Given the description of an element on the screen output the (x, y) to click on. 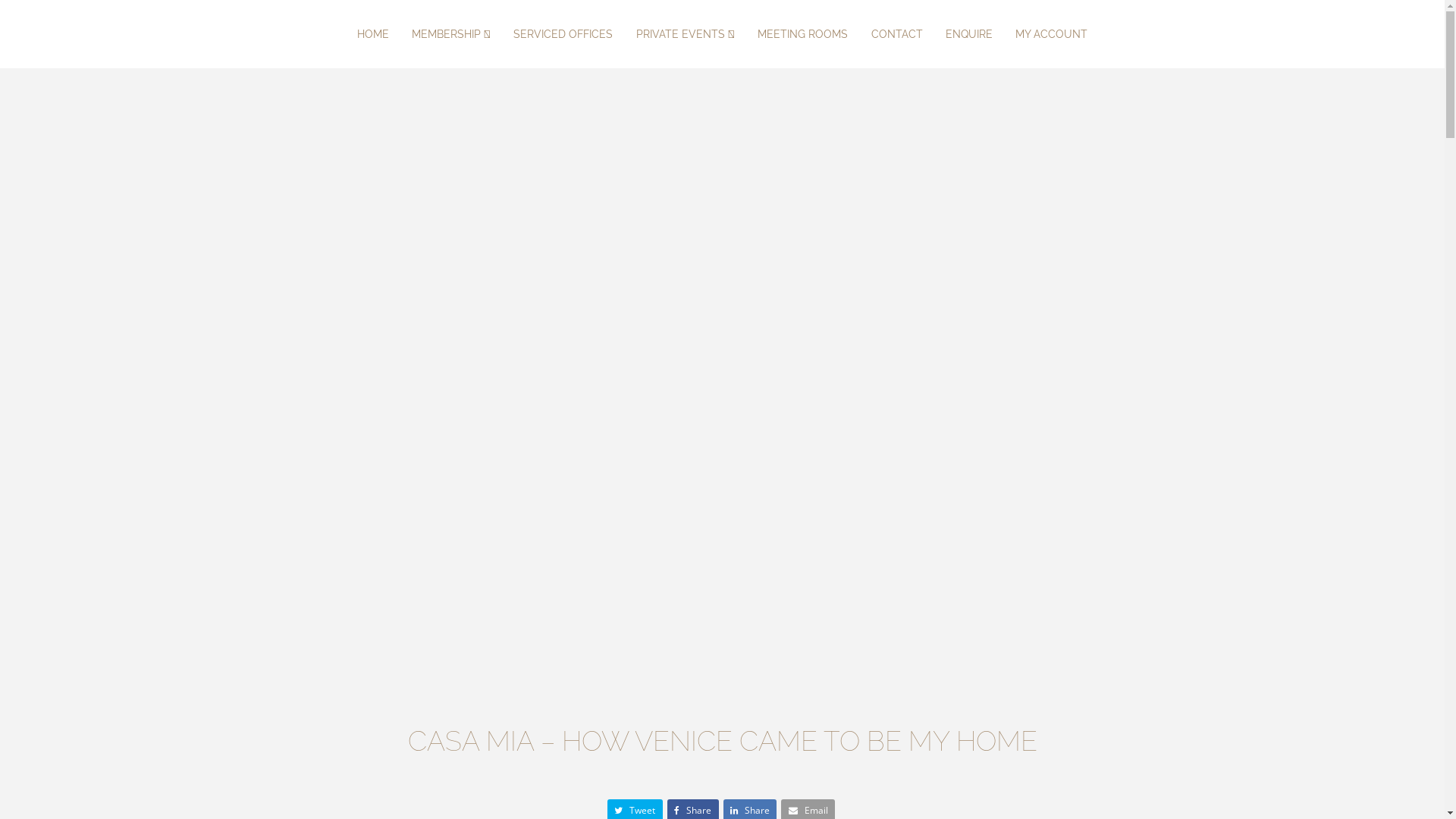
ENQUIRE Element type: text (969, 34)
SERVICED OFFICES Element type: text (563, 34)
MY ACCOUNT Element type: text (1051, 34)
CONTACT Element type: text (896, 34)
HOME Element type: text (372, 34)
MEETING ROOMS Element type: text (802, 34)
